Given the description of an element on the screen output the (x, y) to click on. 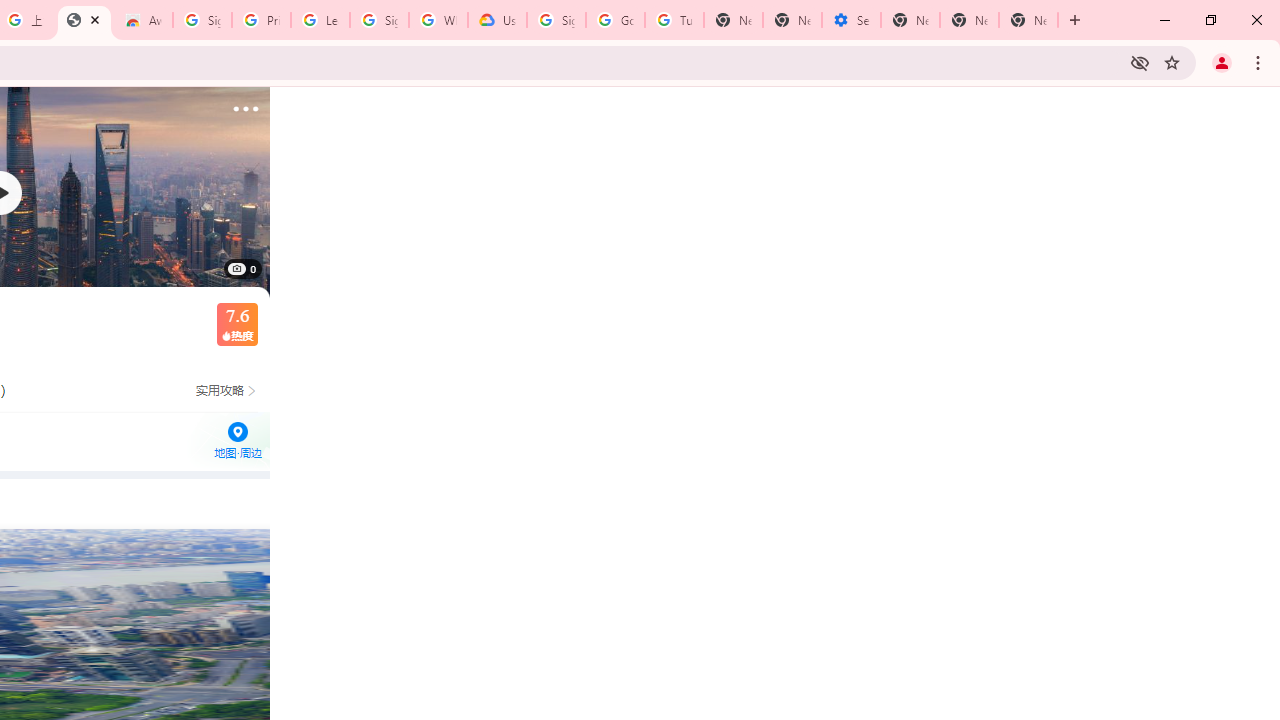
Turn cookies on or off - Computer - Google Account Help (674, 20)
Sign in - Google Accounts (201, 20)
Who are Google's partners? - Privacy and conditions - Google (438, 20)
Sign in - Google Accounts (379, 20)
Google Account Help (615, 20)
Sign in - Google Accounts (556, 20)
Settings - Addresses and more (850, 20)
